Given the description of an element on the screen output the (x, y) to click on. 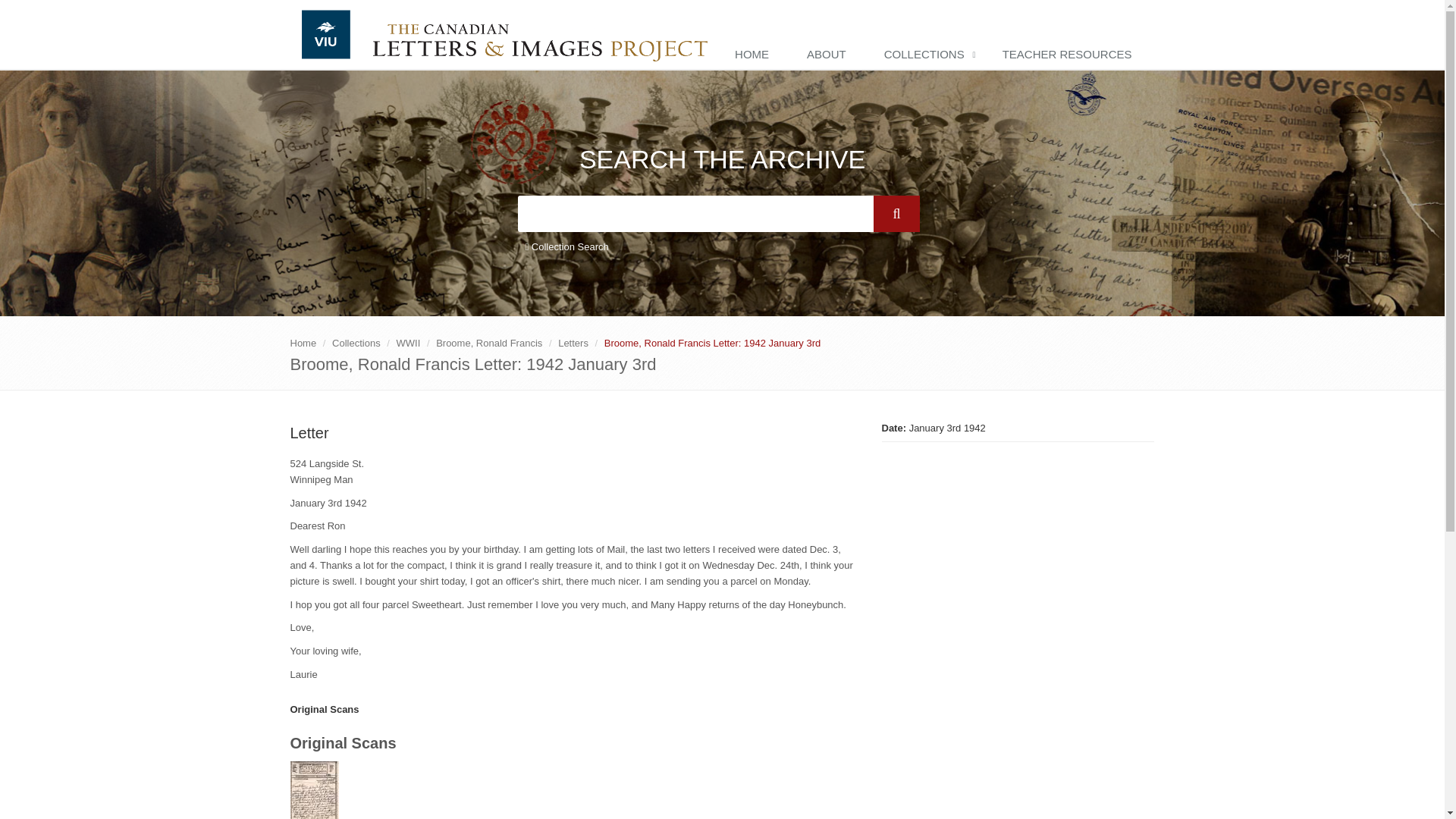
TEACHER RESOURCES (1070, 55)
HOME (755, 55)
ABOUT (830, 55)
Enter the terms you wish to search for. (694, 213)
Letters (572, 342)
Collection Search (566, 247)
Collections (355, 342)
WWII (408, 342)
COLLECTIONS (928, 55)
